Given the description of an element on the screen output the (x, y) to click on. 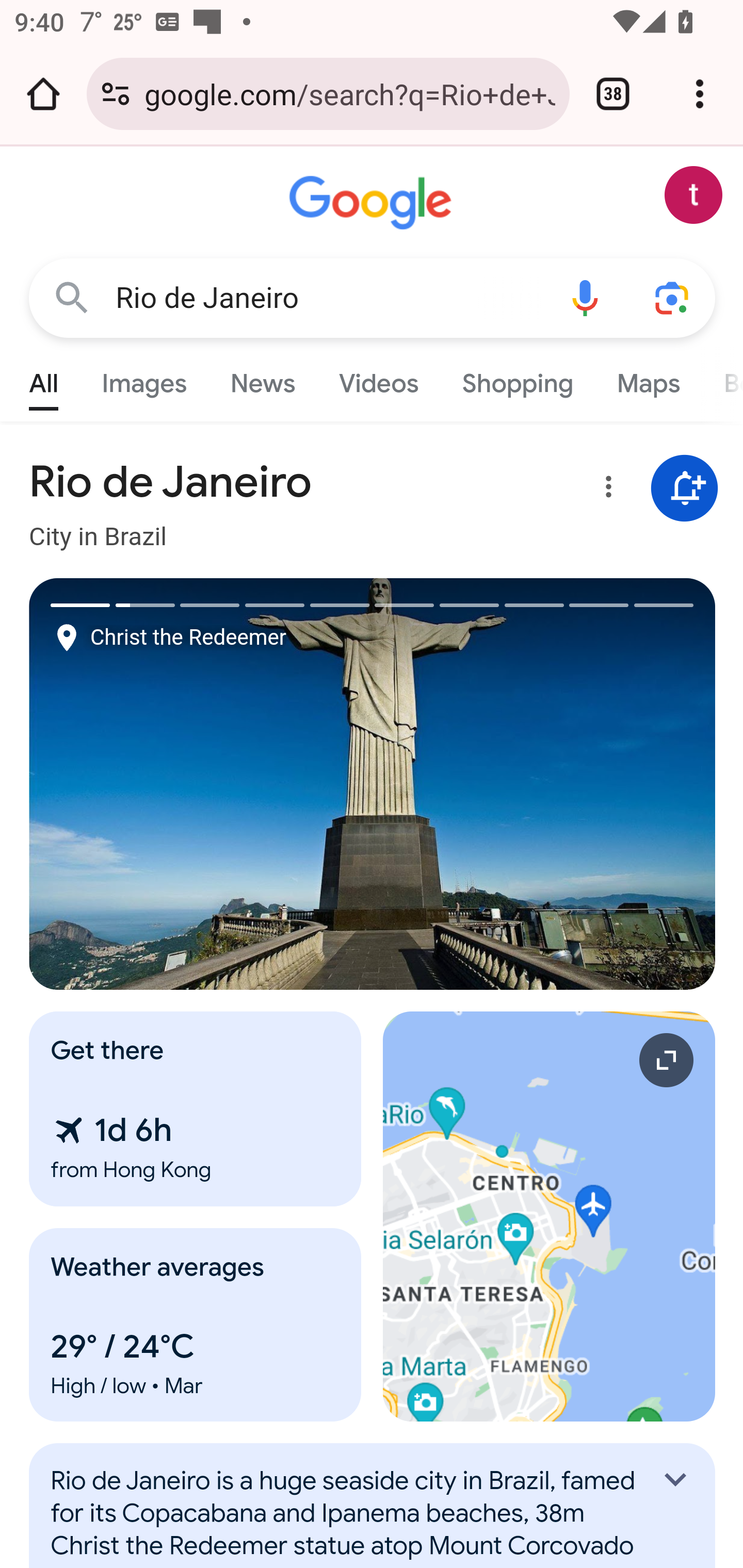
Open the home page (43, 93)
Connection is secure (115, 93)
Switch or close tabs (612, 93)
Customize and control Google Chrome (699, 93)
Google (372, 203)
Google Search (71, 296)
Search using your camera or photos (672, 296)
Rio de Janeiro (328, 297)
Images (144, 378)
News (262, 378)
Videos (378, 378)
Shopping (516, 378)
Maps (647, 378)
Get notifications about Rio de Janeiro (684, 489)
More options (605, 489)
Previous image (200, 783)
Next image (544, 783)
Expand map (549, 1216)
Weather averages 29° / 24°C High / low • Mar (195, 1324)
